Given the description of an element on the screen output the (x, y) to click on. 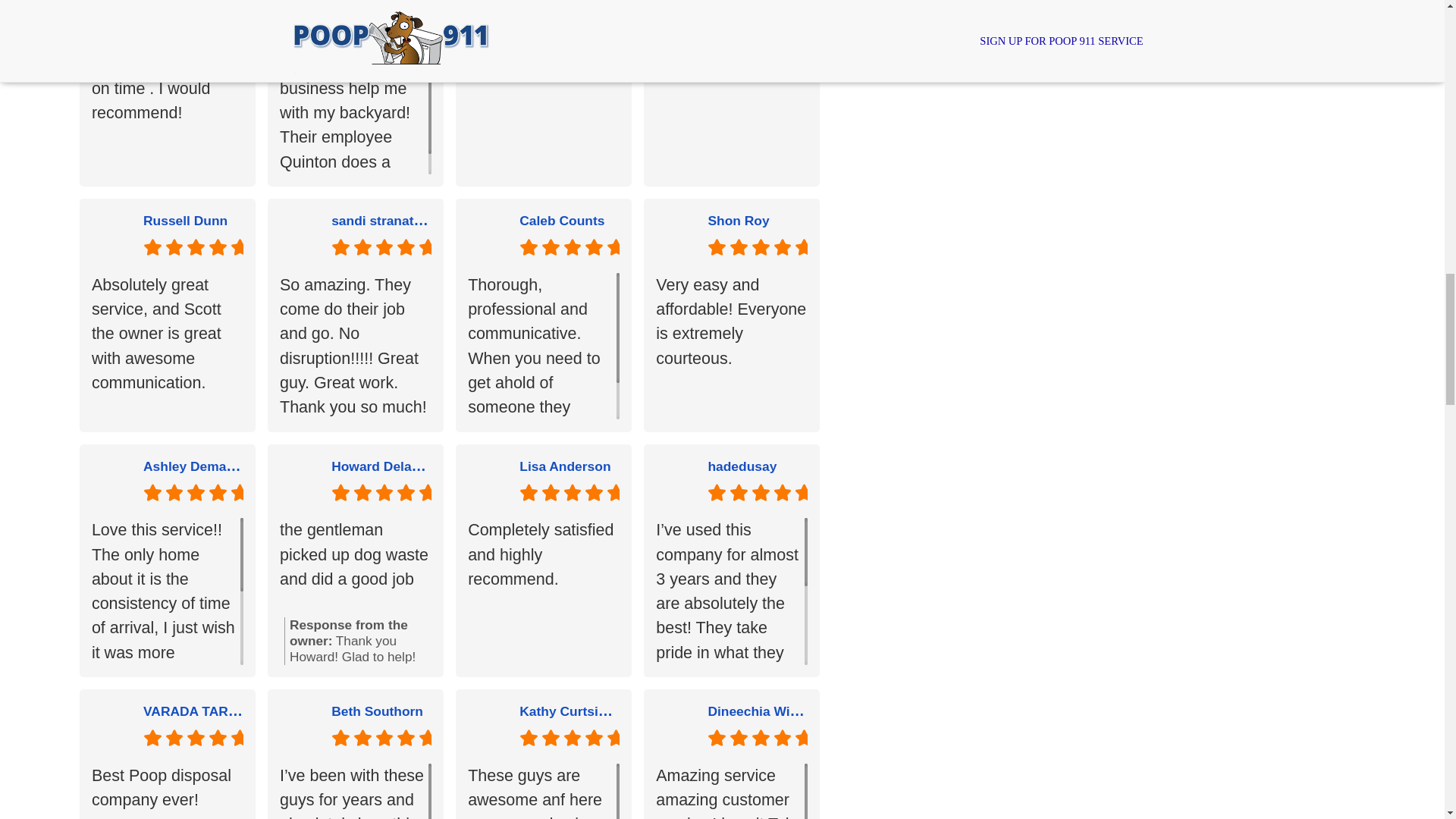
Very easy and affordable! Everyone is extremely courteous. (732, 346)
Beth Southorn (377, 711)
George Ball (675, 4)
Best Poop disposal company ever! (167, 791)
Shon Roy (757, 220)
Kathy Curtsinger (572, 710)
Response from the owner: Thank you Howard! Glad to help! (356, 641)
VARADA TARUN RAO (211, 710)
Dineechia Wilson (761, 710)
the gentleman picked up dog waste and did a good job (354, 564)
Lisa Anderson (564, 466)
sandi stranathan (298, 233)
Caleb Counts (569, 220)
hadedusay (741, 466)
